Given the description of an element on the screen output the (x, y) to click on. 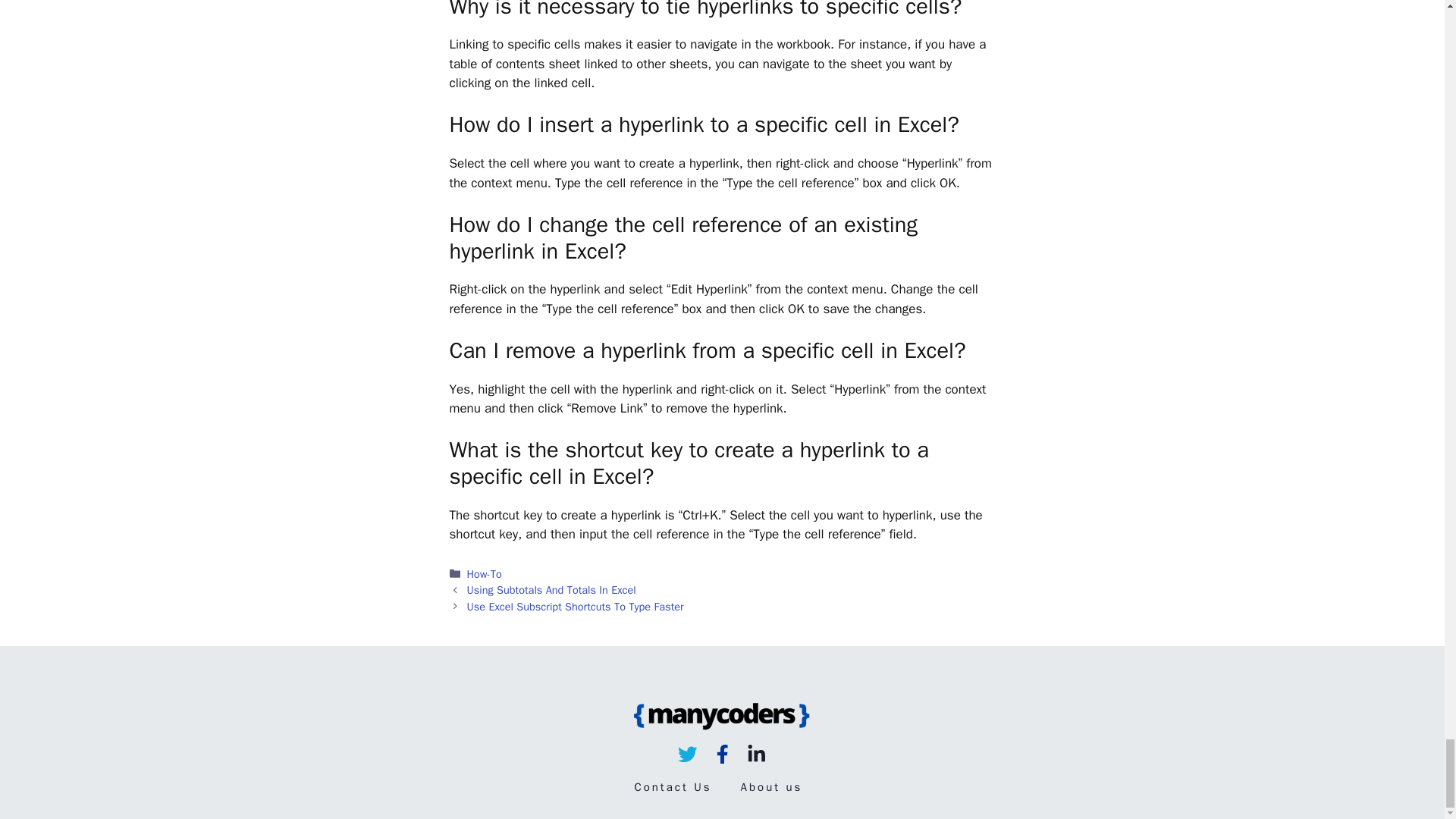
Using Subtotals And Totals In Excel (551, 590)
How-To (484, 573)
Use Excel Subscript Shortcuts To Type Faster (575, 606)
About us (772, 786)
Contact Us (672, 786)
